Given the description of an element on the screen output the (x, y) to click on. 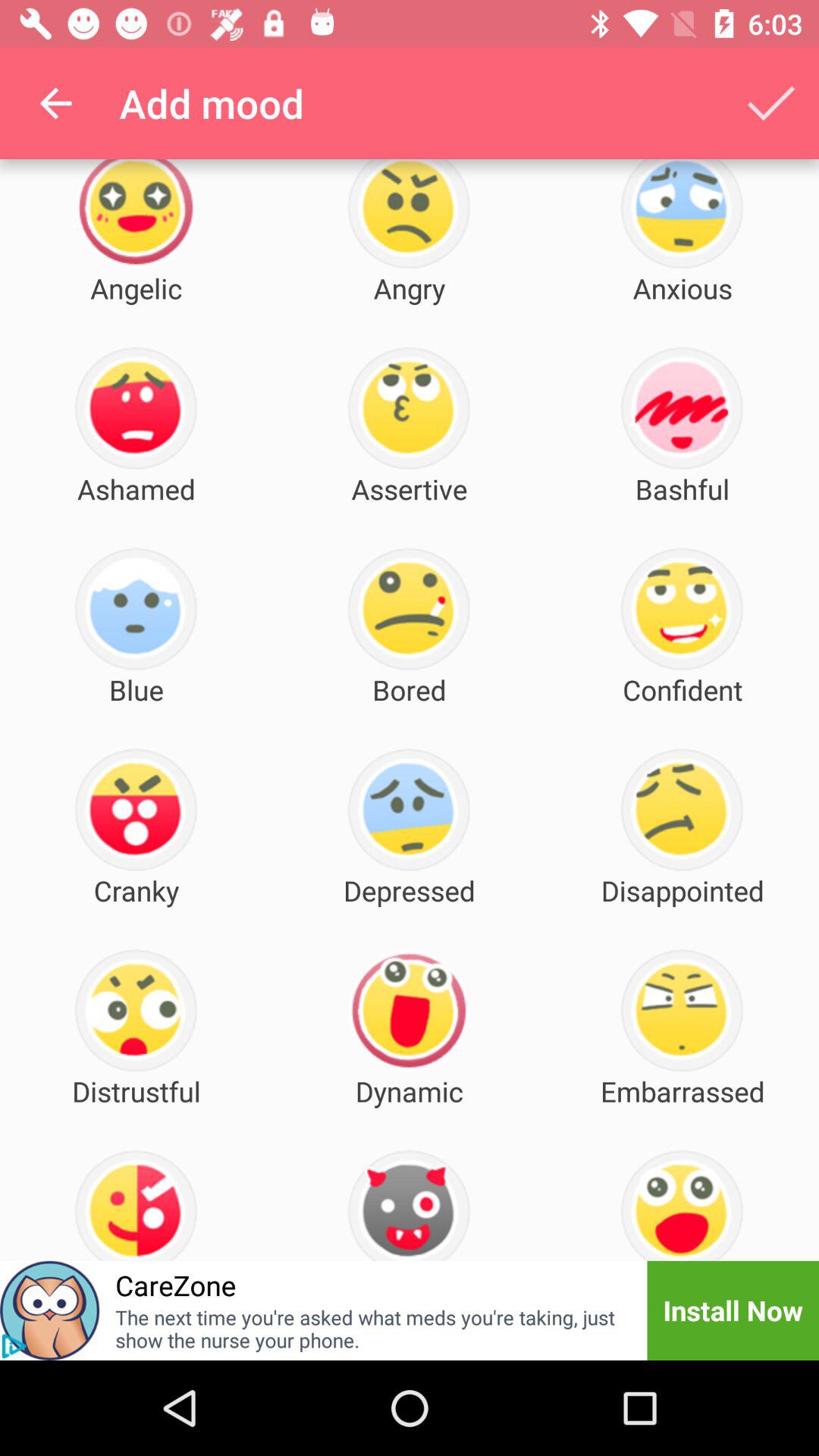
flip to the carezone (175, 1285)
